Given the description of an element on the screen output the (x, y) to click on. 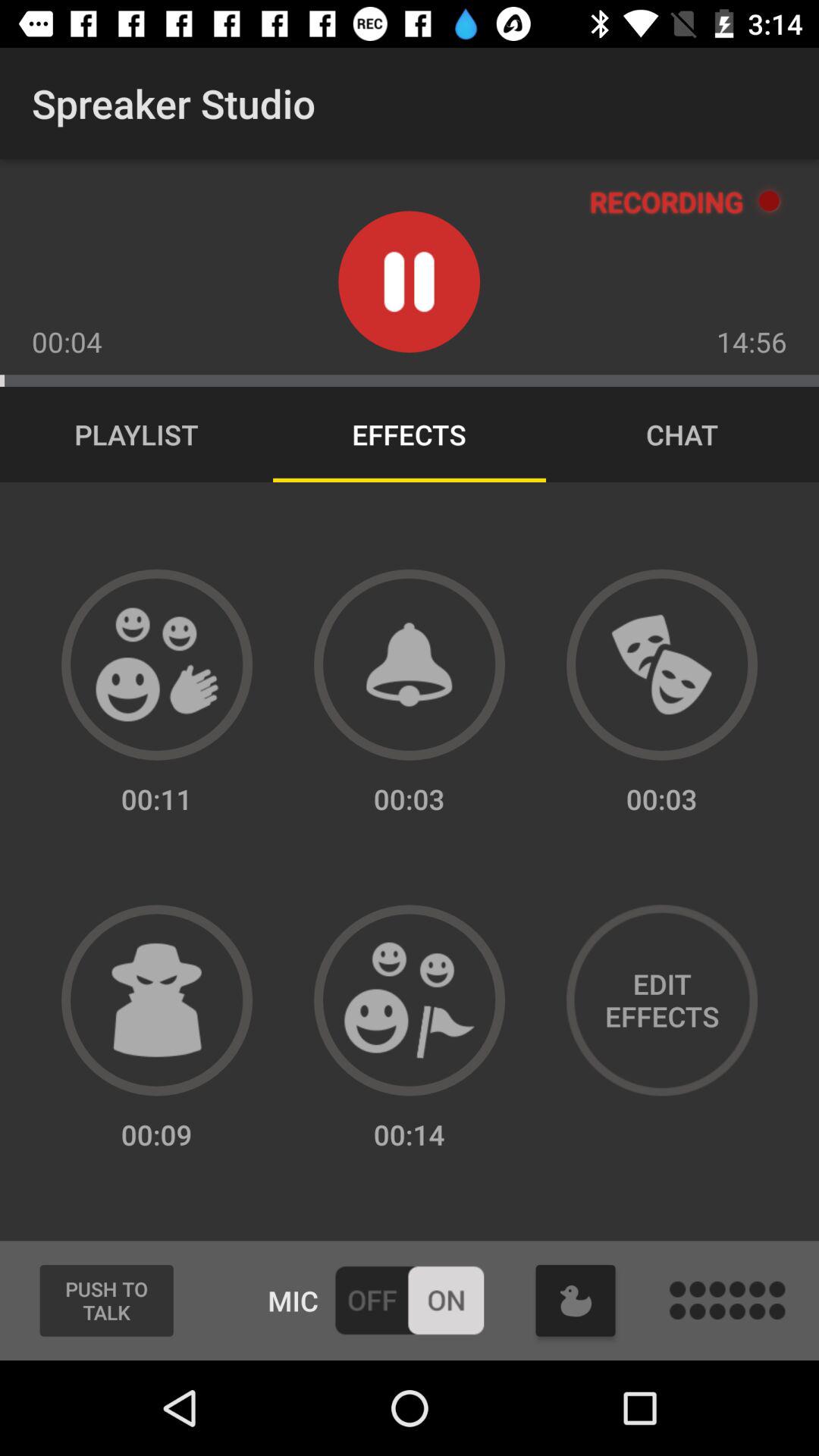
incorporate a bell-ringing sound (409, 664)
